Given the description of an element on the screen output the (x, y) to click on. 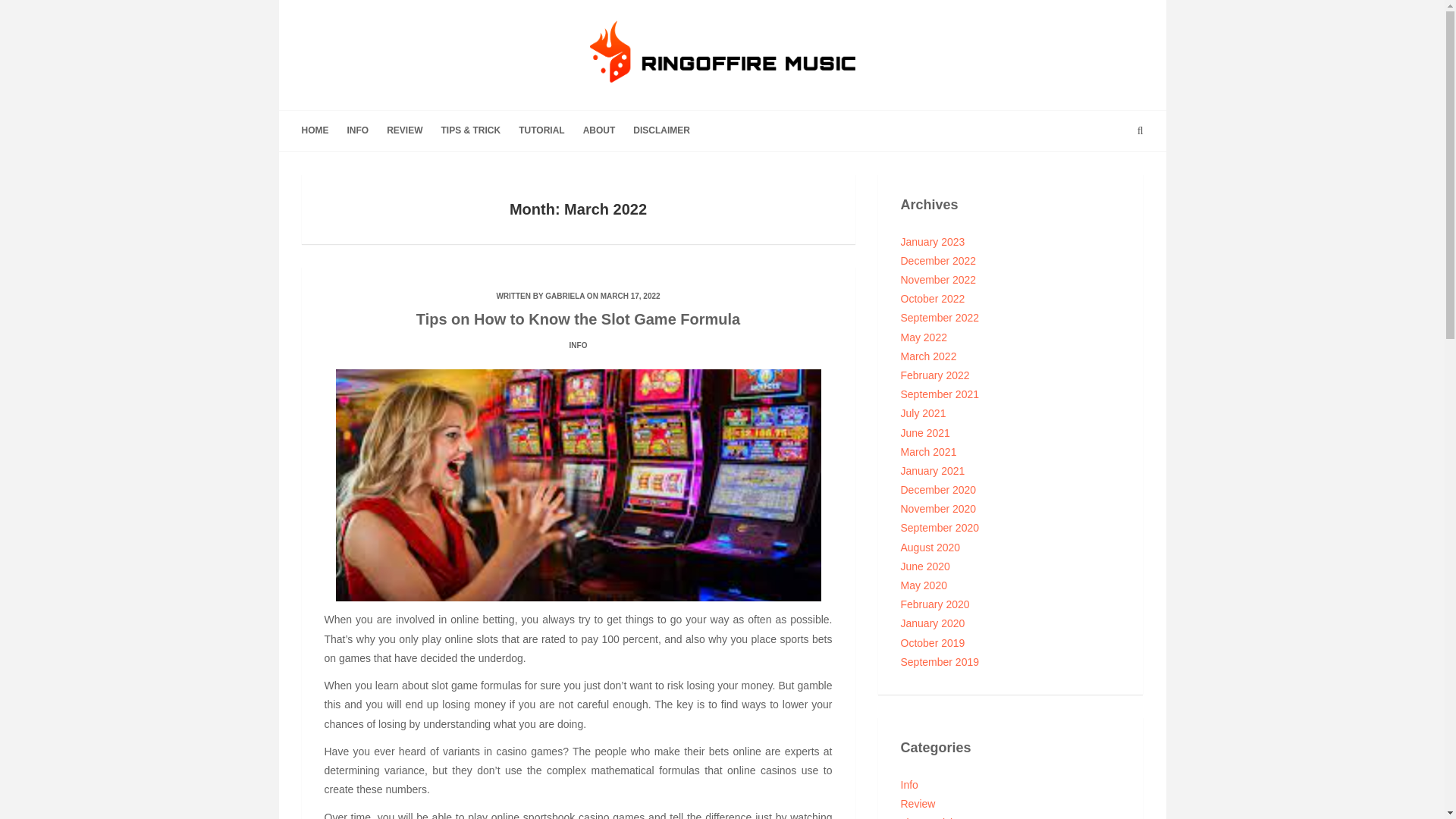
TUTORIAL (541, 130)
September 2021 (940, 394)
HOME (319, 130)
Tips on How to Know the Slot Game Formula (577, 319)
March 2022 (928, 356)
June 2021 (925, 432)
INFO (357, 130)
ABOUT (598, 130)
September 2022 (940, 317)
GABRIELA (564, 295)
